Given the description of an element on the screen output the (x, y) to click on. 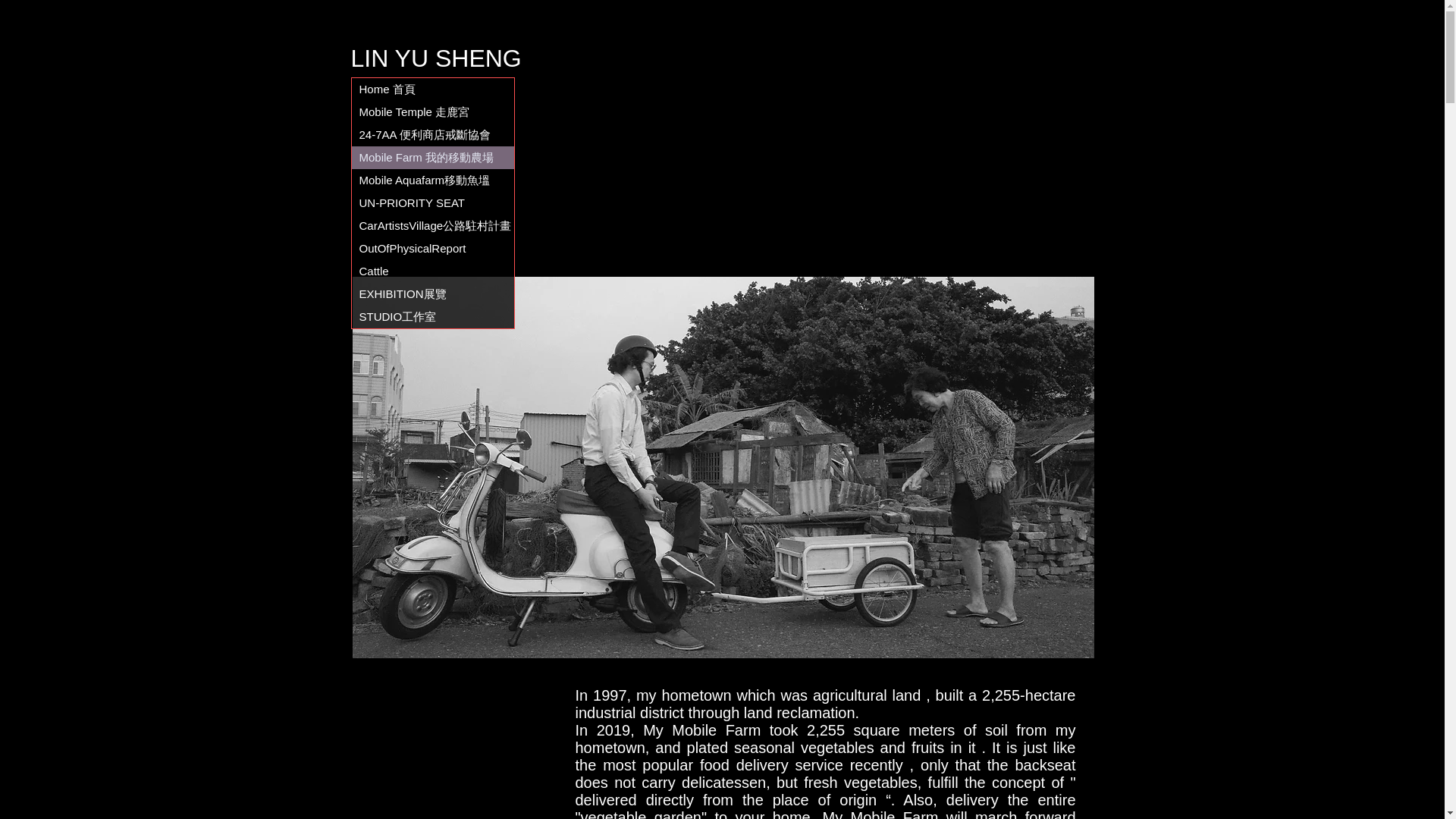
Cattle (432, 271)
OutOfPhysicalReport (432, 248)
UN-PRIORITY SEAT  (432, 202)
